Given the description of an element on the screen output the (x, y) to click on. 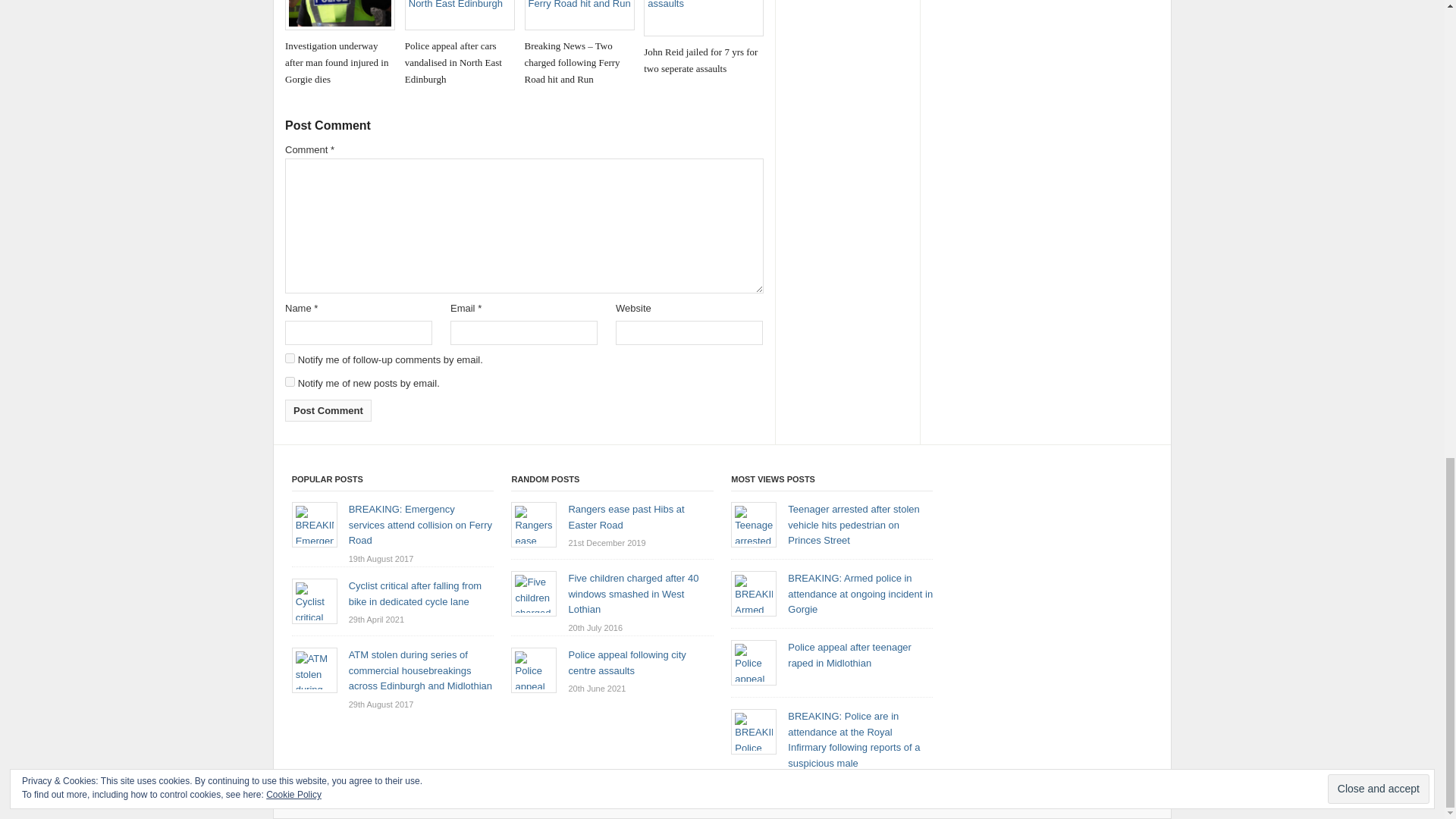
Live Edinburgh News (756, 802)
subscribe (290, 357)
Rangers ease past Hibs at Easter Road (625, 516)
Police appeal after cars vandalised in North East Edinburgh (459, 43)
subscribe (290, 381)
BREAKING: Emergency services attend collision on Ferry Road (420, 525)
Post Comment (328, 410)
Post Comment (328, 410)
Police appeal after teenager raped in Midlothian (849, 655)
John Reid jailed for 7 yrs for two seperate assaults (702, 38)
